Given the description of an element on the screen output the (x, y) to click on. 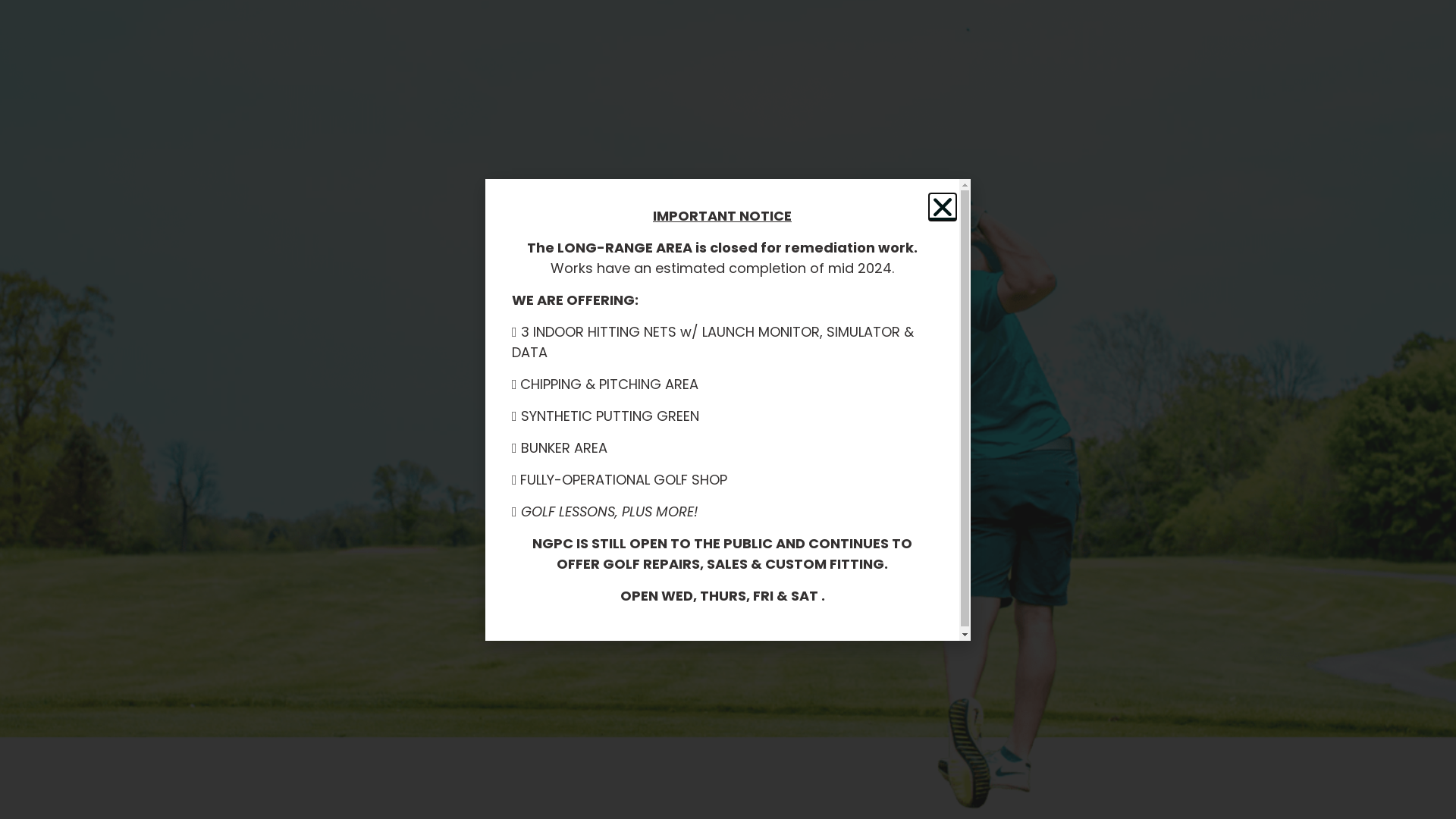
Homepage Element type: text (651, 470)
Contact Us Element type: text (804, 470)
